Given the description of an element on the screen output the (x, y) to click on. 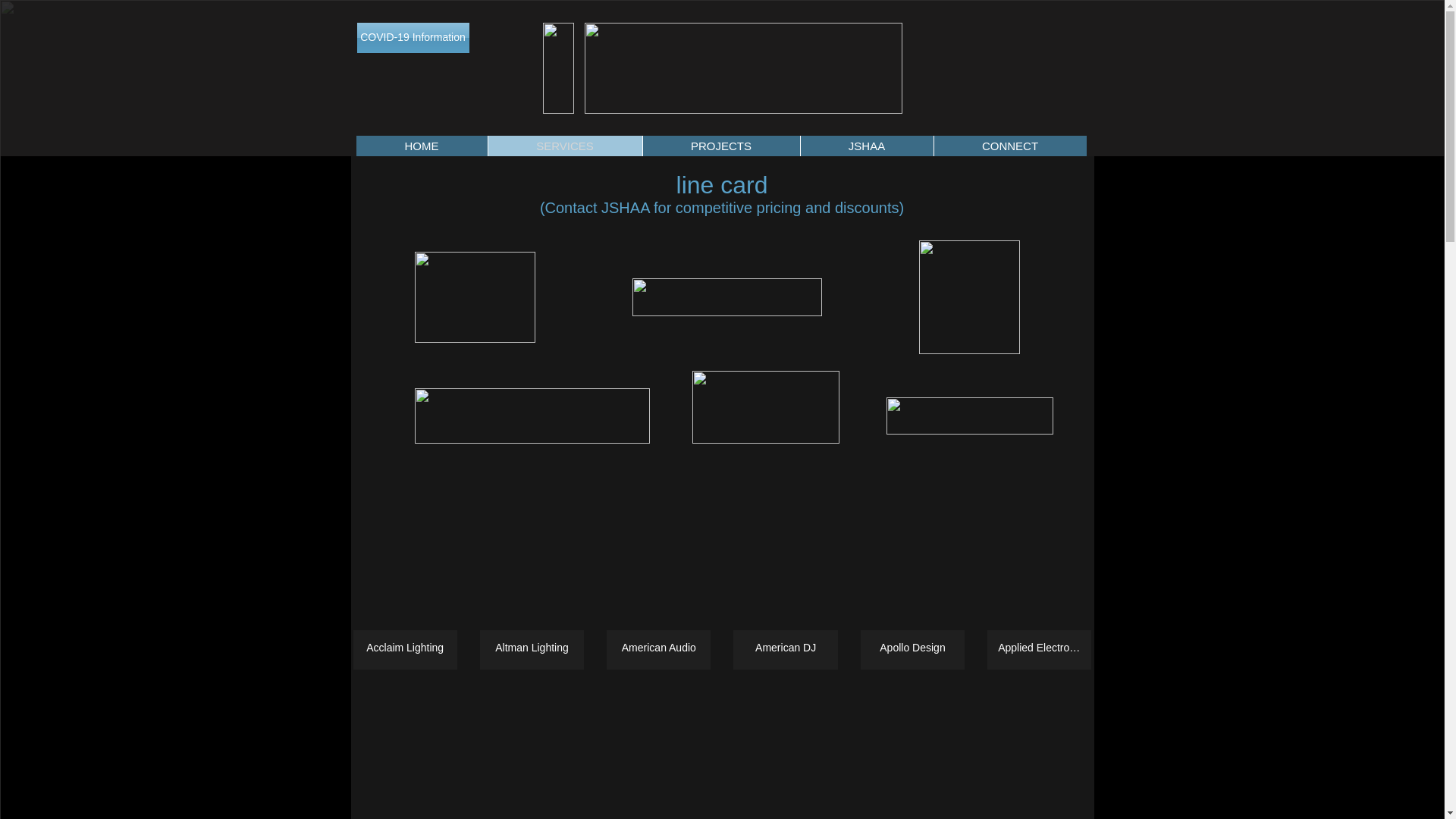
SERVICES (564, 145)
PROJECTS (720, 145)
HOME (421, 145)
CONNECT (1009, 145)
JSHAA (866, 145)
COVID-19 Information (412, 37)
